Given the description of an element on the screen output the (x, y) to click on. 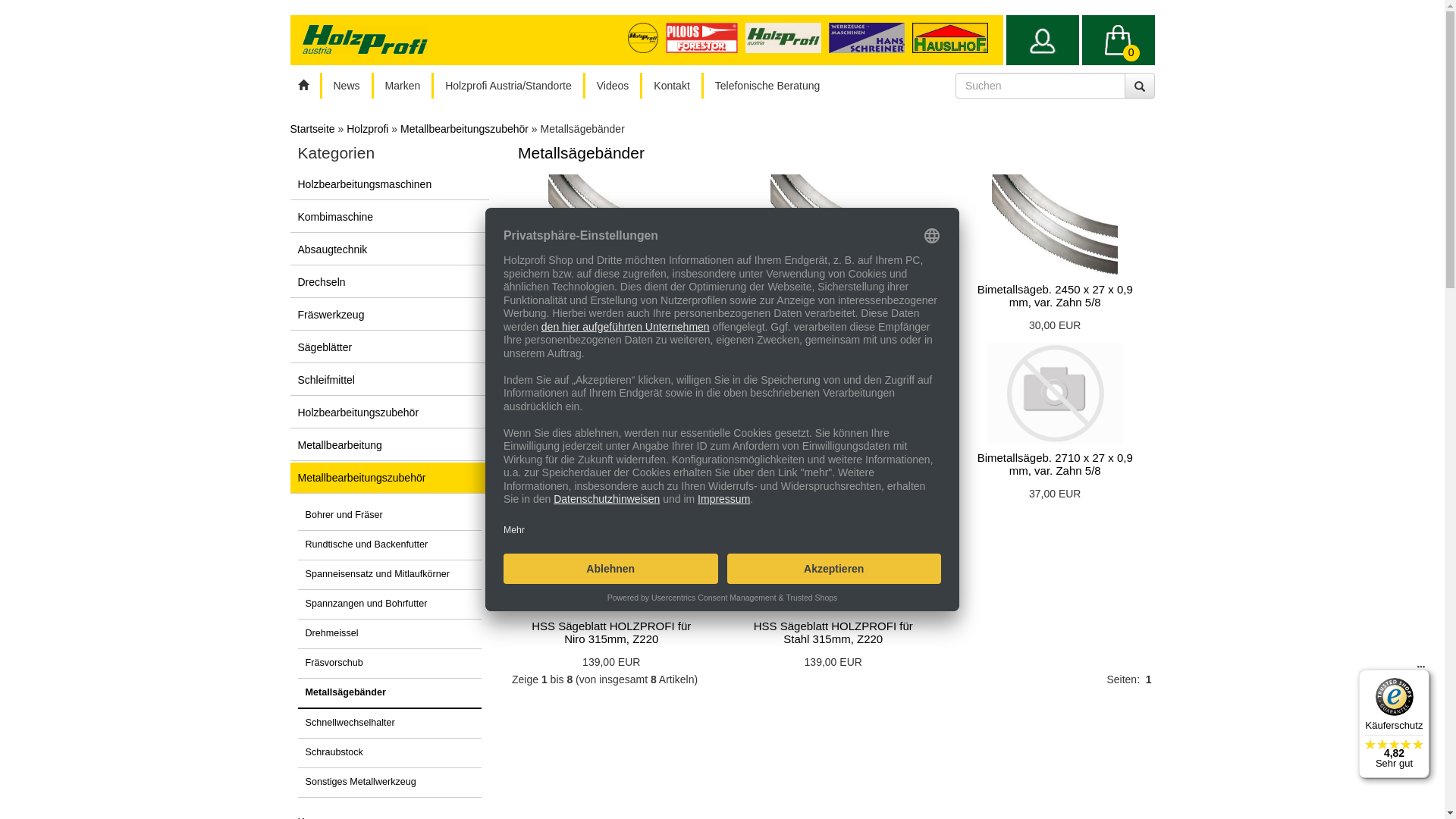
Sonstiges Metallwerkzeug Element type: text (389, 782)
Telefonische Beratung Element type: text (767, 85)
Startseite Element type: hover (303, 85)
Holzprofi Austria/Standorte Element type: text (508, 85)
Metallbearbeitung Element type: text (389, 445)
Holzprofi Maker Element type: hover (646, 37)
Rundtische und Backenfutter Element type: text (389, 545)
0 Element type: text (1117, 40)
Hauslhof Element type: hover (870, 37)
Kontakt Element type: text (671, 85)
News Element type: text (345, 85)
Hans Schreiner Element type: hover (953, 37)
Kombimaschine Element type: text (389, 216)
Drechseln Element type: text (389, 282)
Holzprofi Maker Element type: hover (642, 37)
Holzbearbeitungsmaschinen Element type: text (389, 184)
Absaugtechnik Element type: text (389, 249)
Drehmeissel Element type: text (389, 634)
Spannzangen und Bohrfutter Element type: text (389, 604)
Hans Schreiner Element type: hover (866, 37)
Holzprofi Austria Element type: hover (786, 37)
Holzprofi Element type: text (367, 128)
Videos Element type: text (612, 85)
Startseite Element type: text (311, 128)
Schnellwechselhalter Element type: text (389, 723)
  Element type: text (1041, 40)
Schleifmittel Element type: text (389, 379)
Forester Element type: hover (705, 37)
Forestor Element type: hover (701, 37)
Schraubstock Element type: text (389, 753)
Marken Element type: text (402, 85)
Hauslhof Element type: hover (949, 37)
holzprofi Element type: hover (783, 37)
